Given the description of an element on the screen output the (x, y) to click on. 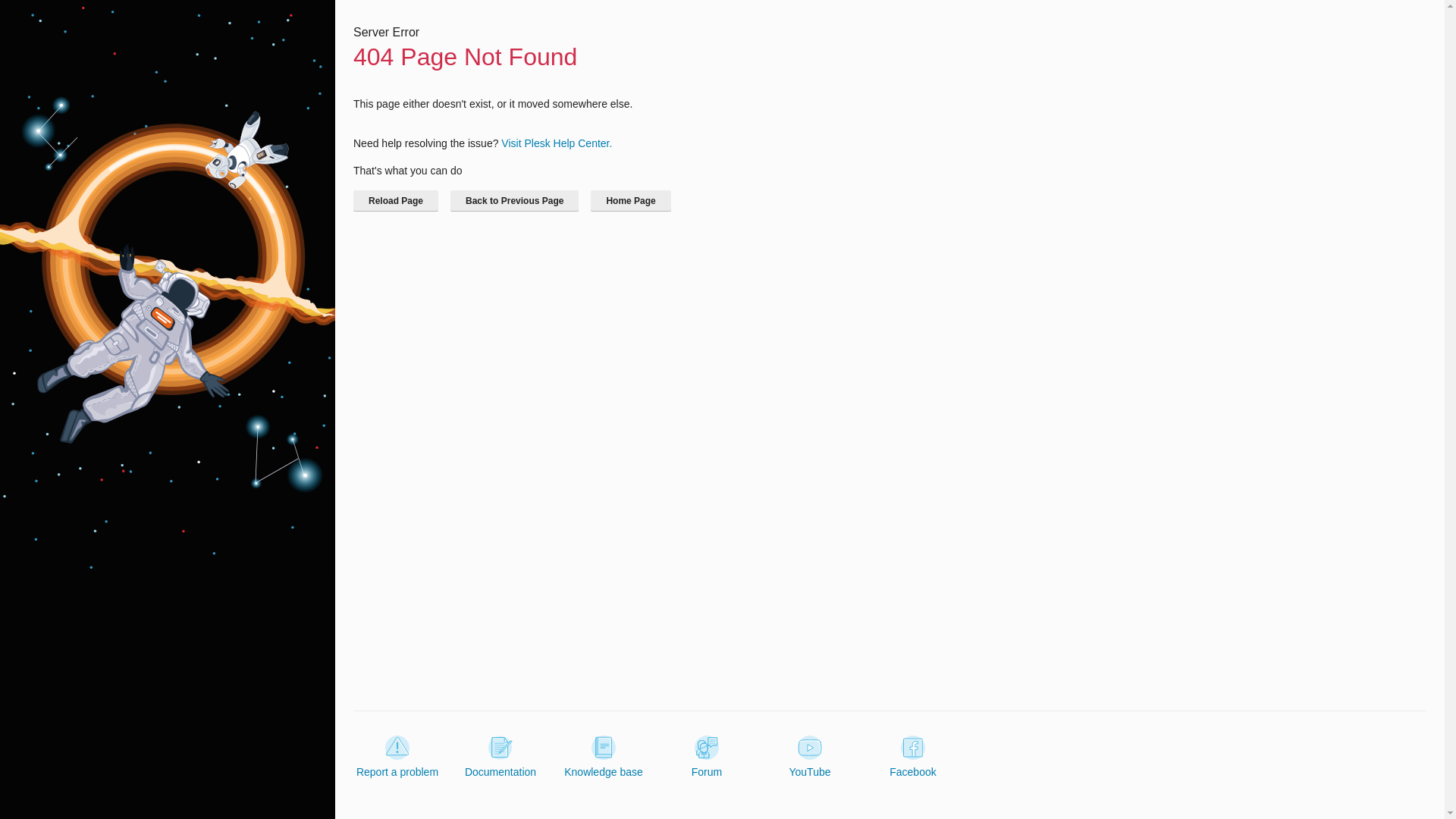
Home Page (630, 200)
Forum (706, 757)
Knowledge base (603, 757)
Documentation (500, 757)
Back to Previous Page (513, 200)
Reload Page (395, 200)
Report a problem (397, 757)
YouTube (809, 757)
Facebook (912, 757)
Visit Plesk Help Center. (555, 143)
